Given the description of an element on the screen output the (x, y) to click on. 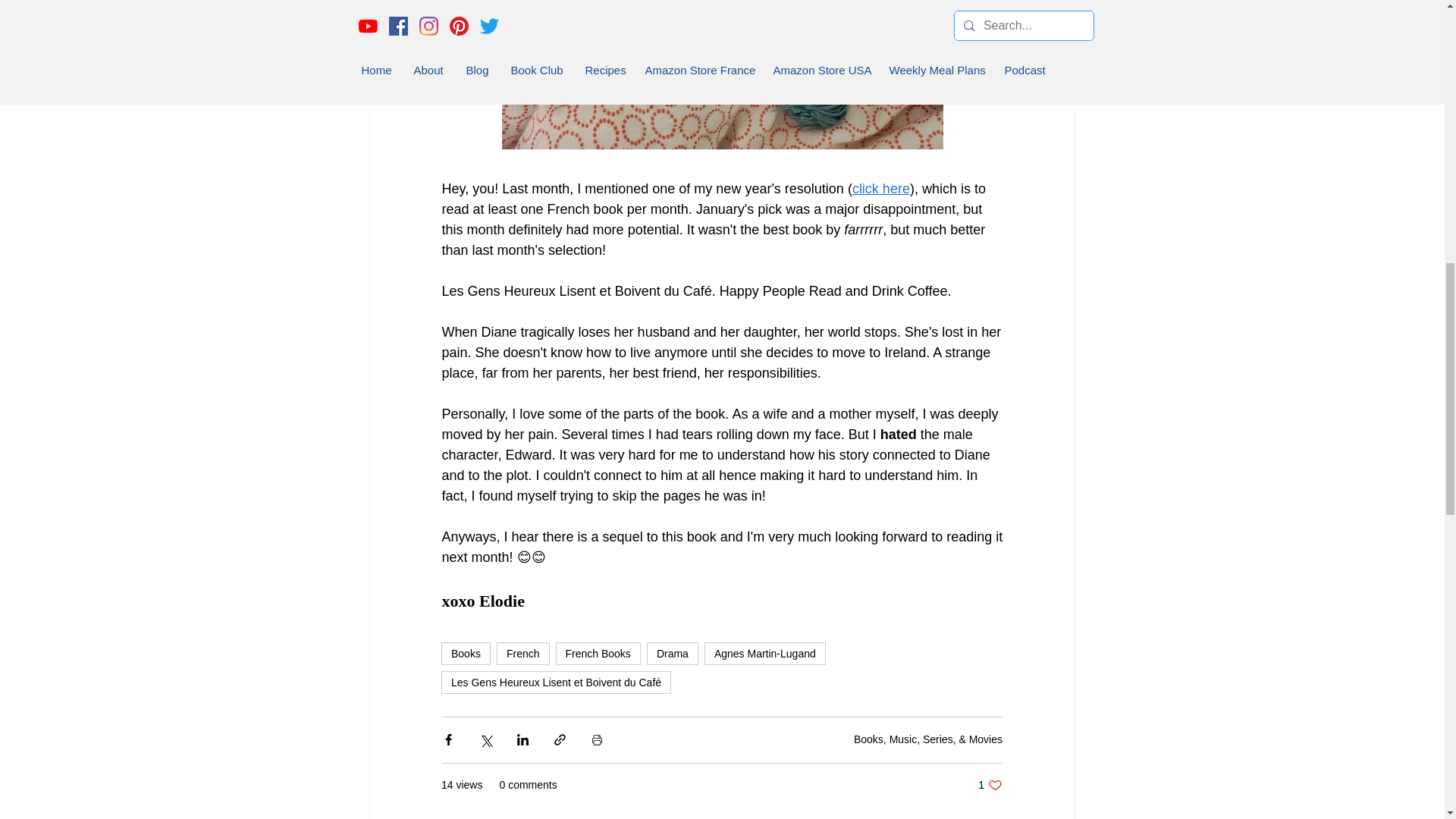
Drama (672, 653)
Agnes Martin-Lugand (764, 653)
click here (879, 188)
Books (465, 653)
French Books (597, 653)
French (523, 653)
